Given the description of an element on the screen output the (x, y) to click on. 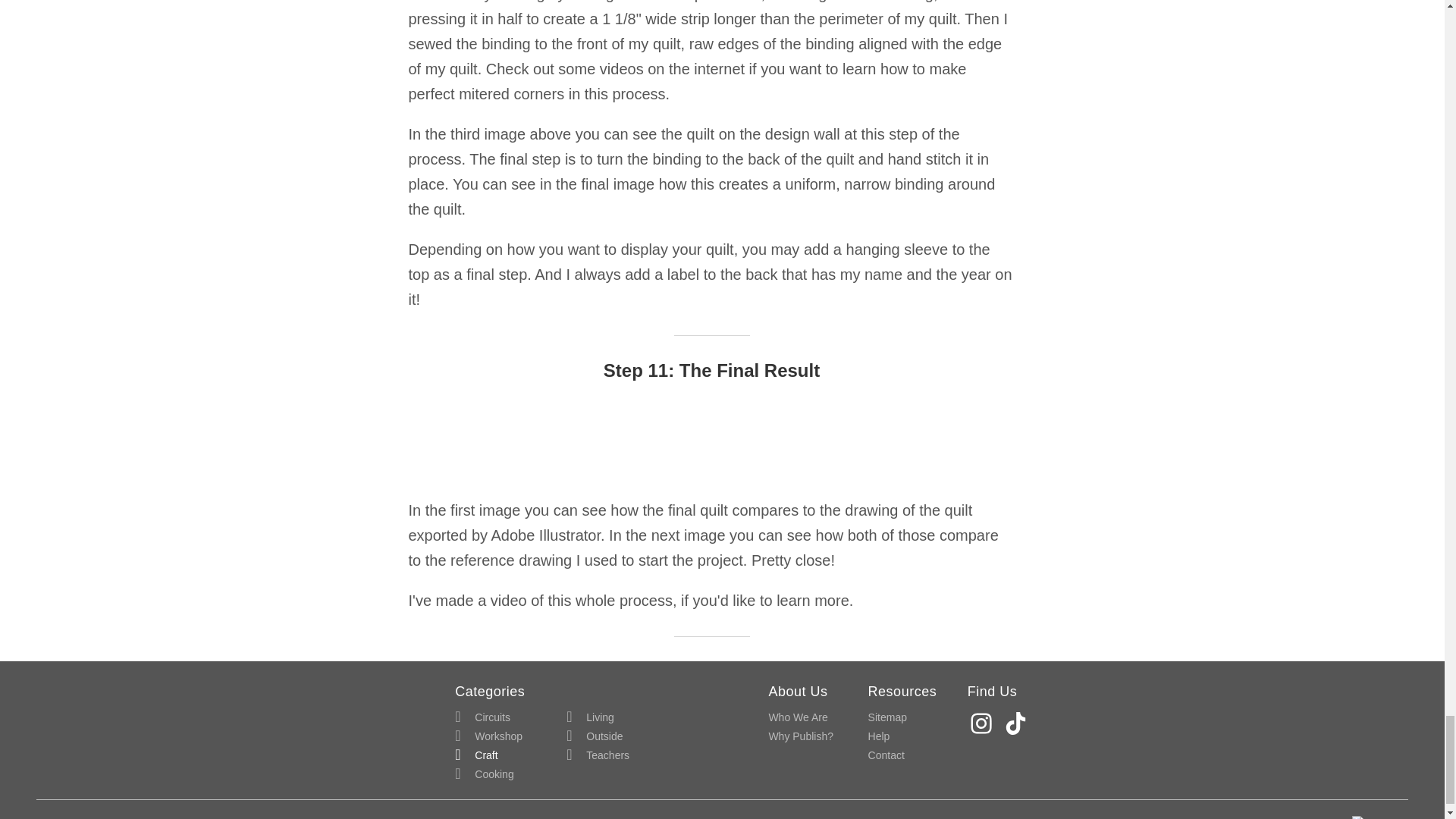
Craft (475, 755)
Living (590, 717)
Who We Are (797, 717)
Outside (594, 736)
Workshop (488, 736)
Why Publish? (800, 736)
Contact (885, 755)
Circuits (482, 717)
Teachers (597, 755)
Sitemap (887, 717)
